Given the description of an element on the screen output the (x, y) to click on. 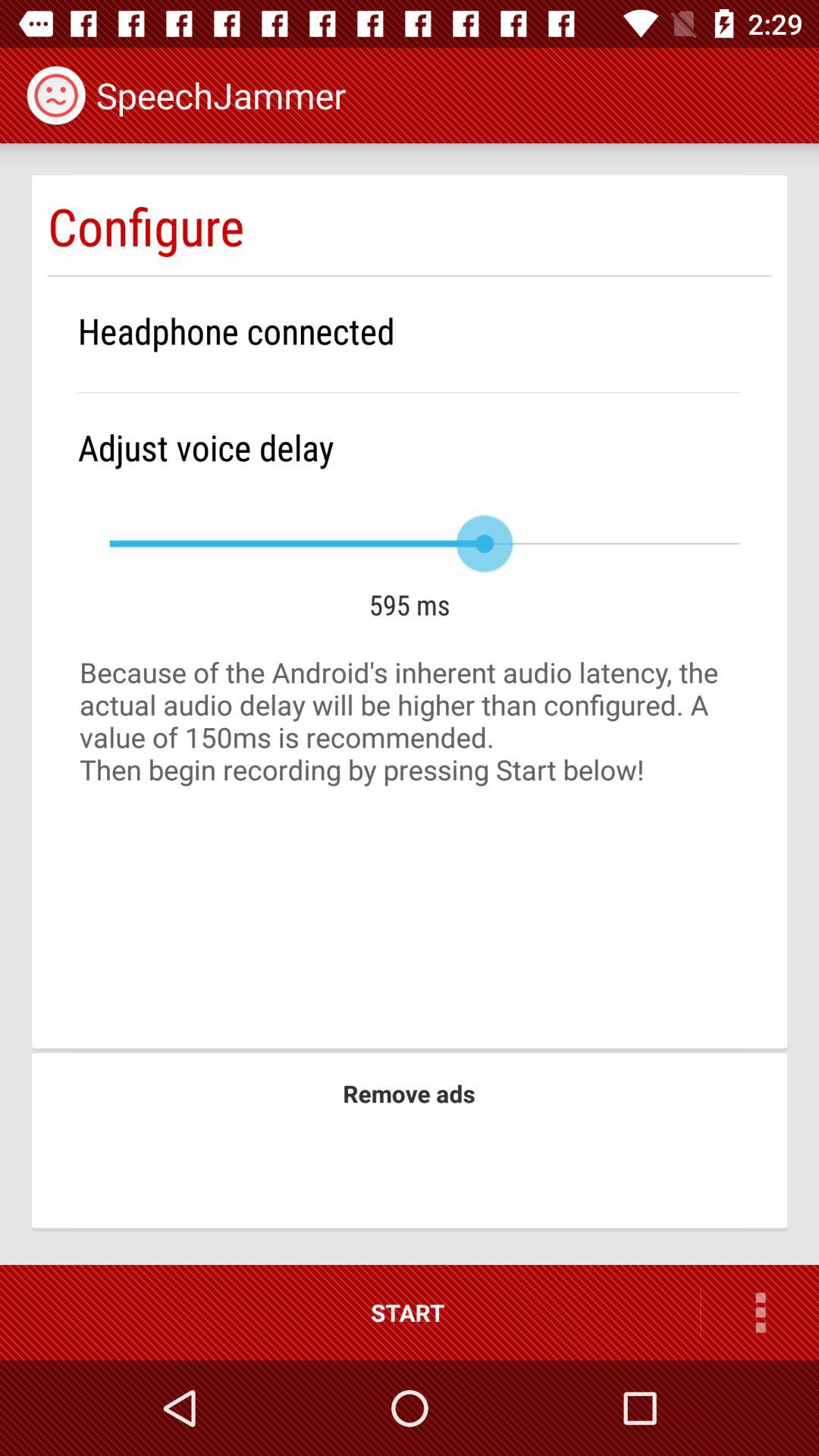
click icon to the right of the start item (760, 1312)
